Given the description of an element on the screen output the (x, y) to click on. 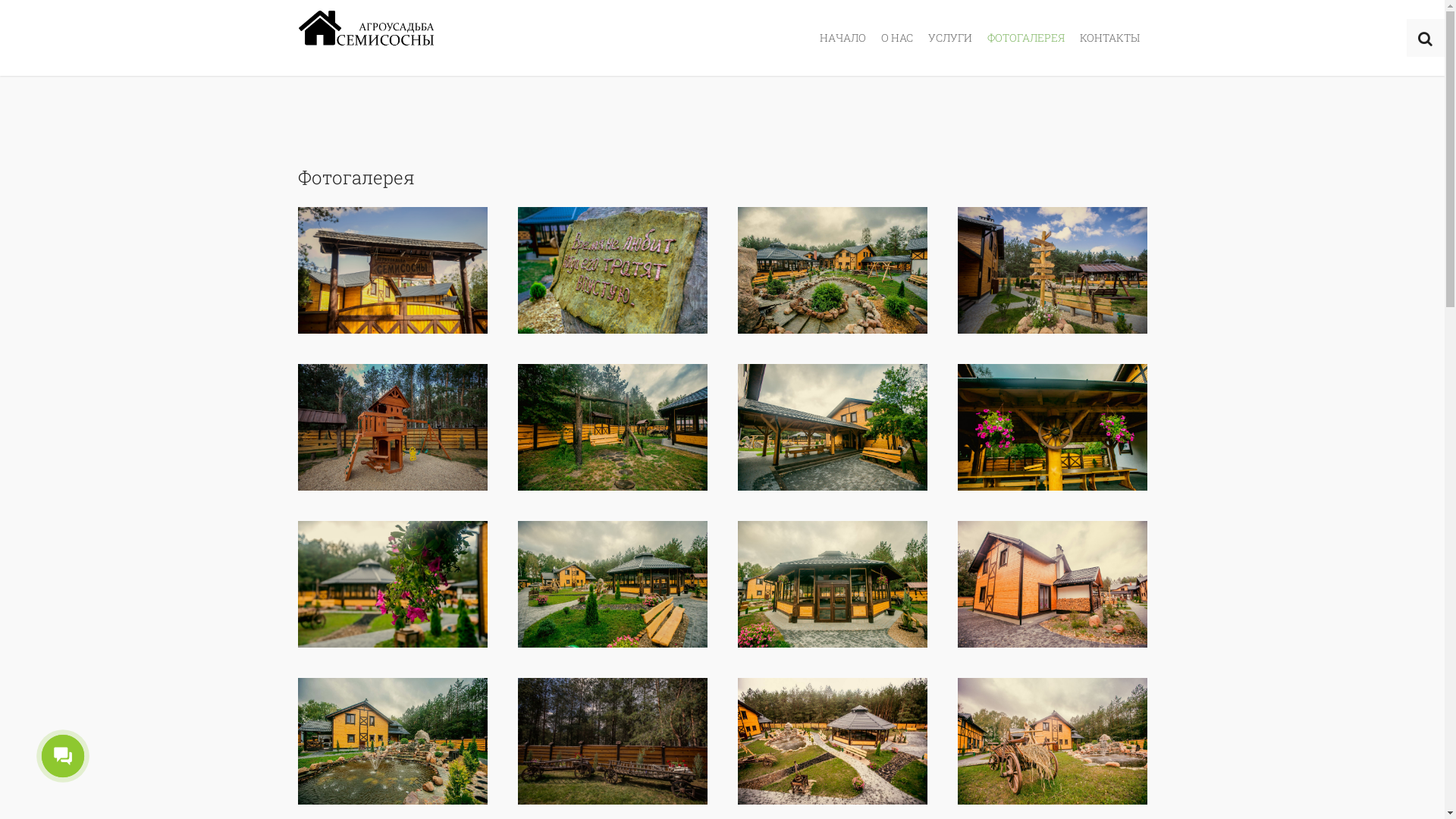
18 Element type: hover (391, 740)
02 Element type: hover (1051, 740)
15 Element type: hover (391, 427)
17 Element type: hover (611, 427)
28 Element type: hover (391, 270)
03 Element type: hover (831, 740)
16 Element type: hover (611, 270)
21 Element type: hover (611, 583)
19 Element type: hover (831, 427)
29 Element type: hover (391, 583)
31 Element type: hover (1051, 583)
12 Element type: hover (1051, 270)
27 Element type: hover (611, 740)
11 Element type: hover (831, 270)
22 Element type: hover (831, 583)
20 Element type: hover (1051, 427)
